Given the description of an element on the screen output the (x, y) to click on. 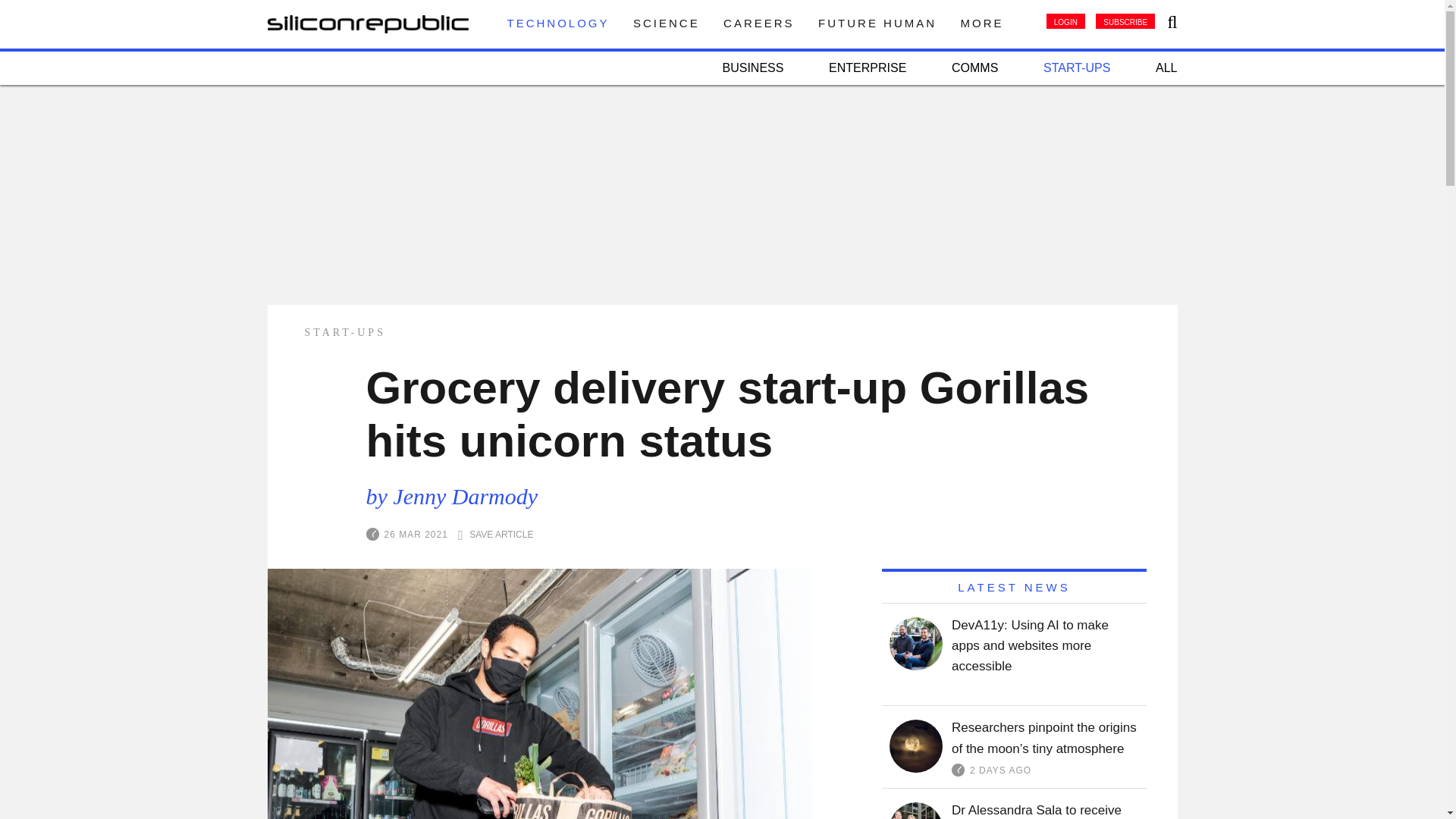
TECHNOLOGY (557, 22)
SCIENCE (666, 22)
